Given the description of an element on the screen output the (x, y) to click on. 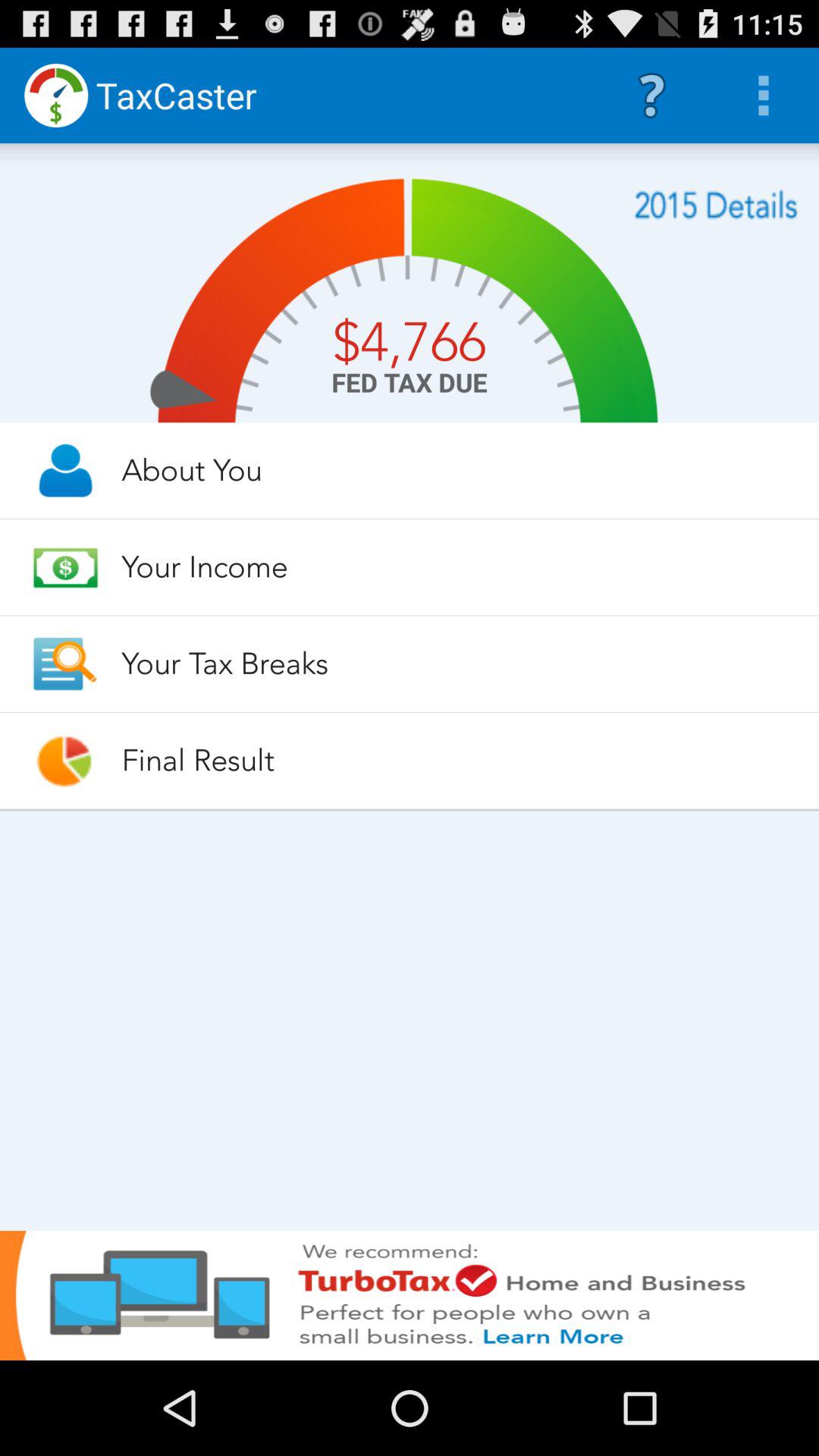
jump to the your income icon (456, 566)
